Given the description of an element on the screen output the (x, y) to click on. 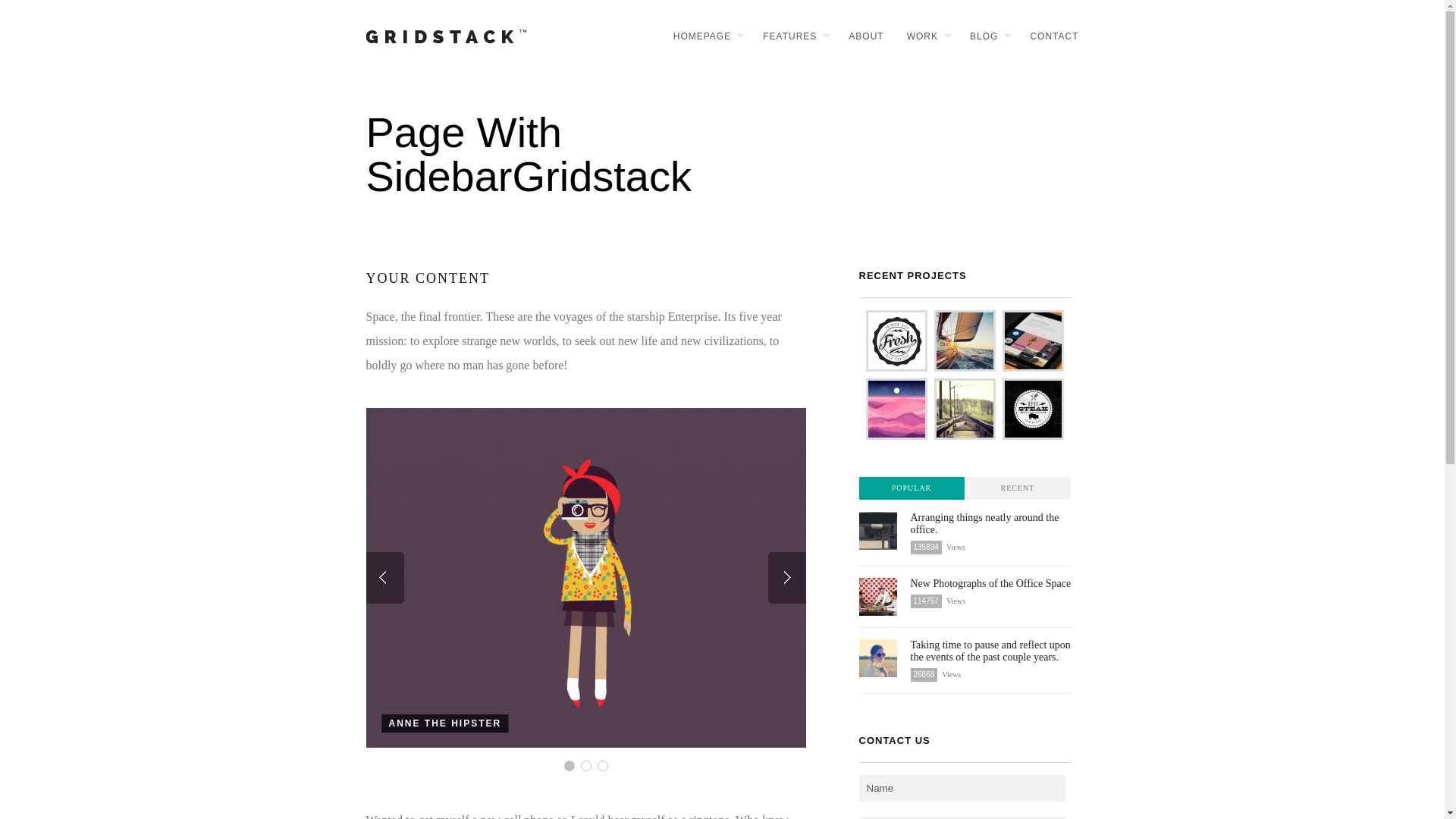
BLOG (982, 36)
ABOUT (860, 36)
WORK (921, 36)
HOMEPAGE (700, 36)
Name (961, 787)
CONTACT (1047, 36)
Email Address (961, 817)
FEATURES (788, 36)
